Given the description of an element on the screen output the (x, y) to click on. 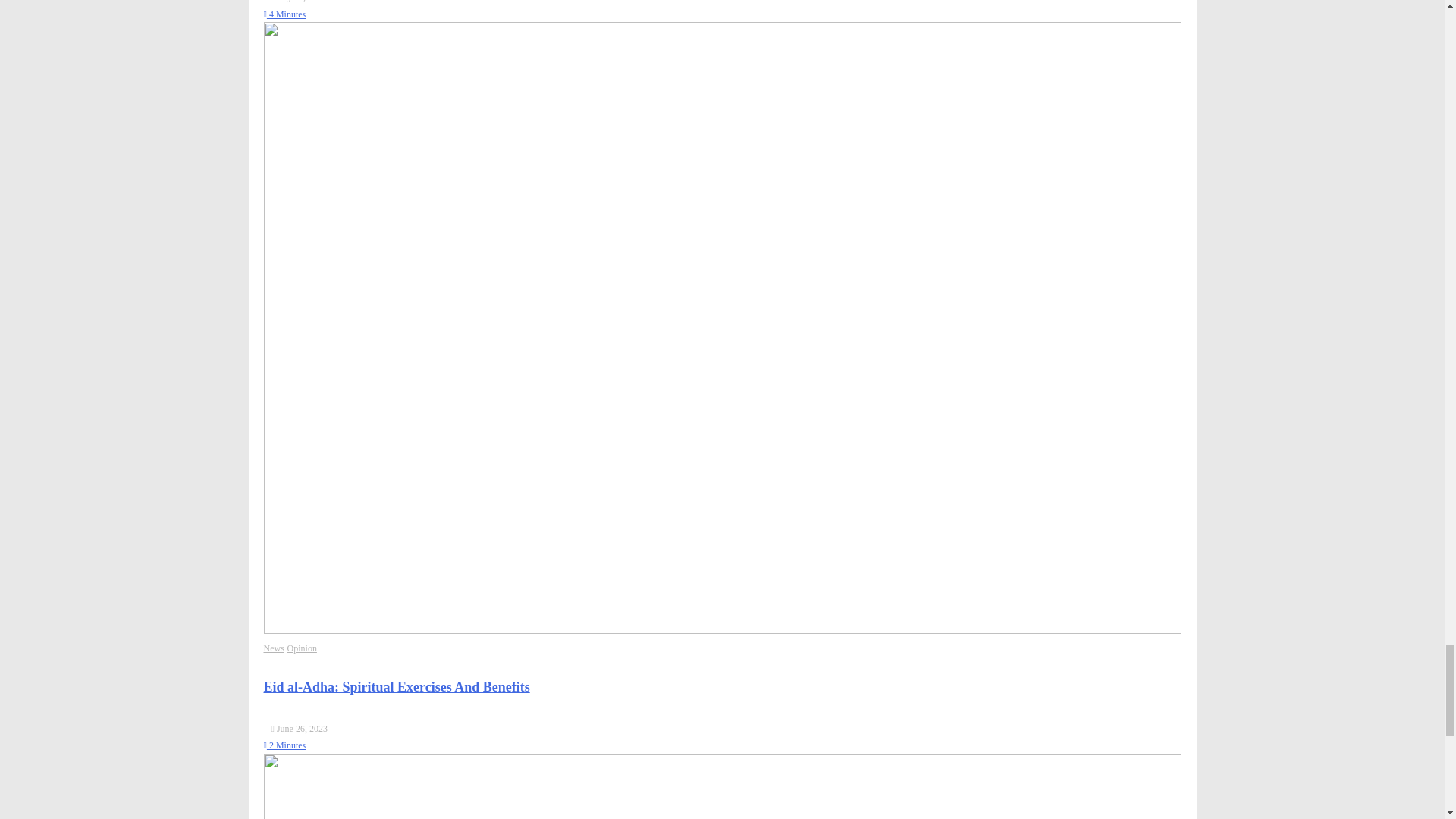
Estimated Reading Time of Article (284, 14)
Estimated Reading Time of Article (284, 745)
